Given the description of an element on the screen output the (x, y) to click on. 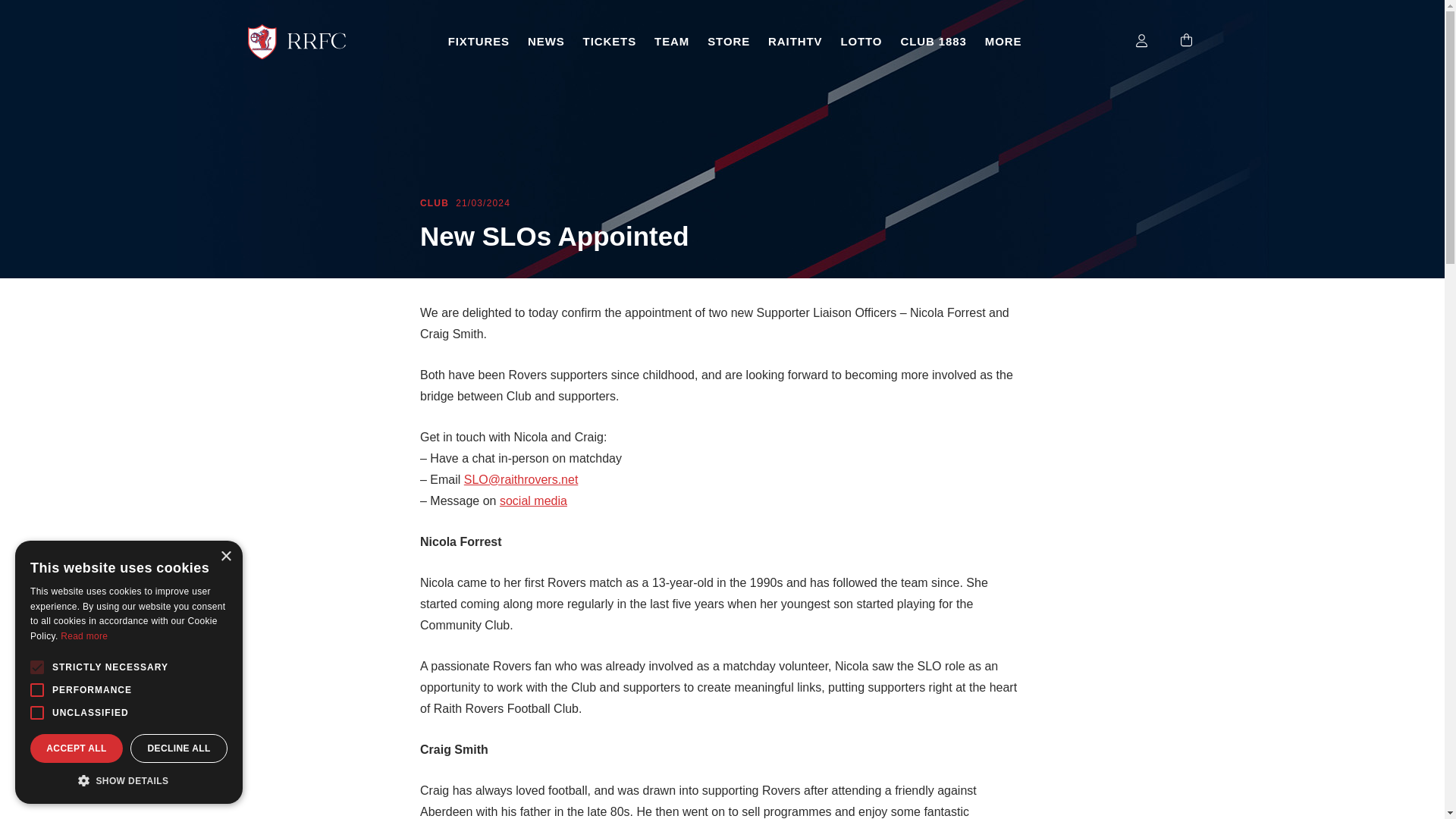
TICKETS (609, 42)
FIXTURES (478, 42)
CLUB 1883 (933, 42)
RAITHTV (794, 42)
